Given the description of an element on the screen output the (x, y) to click on. 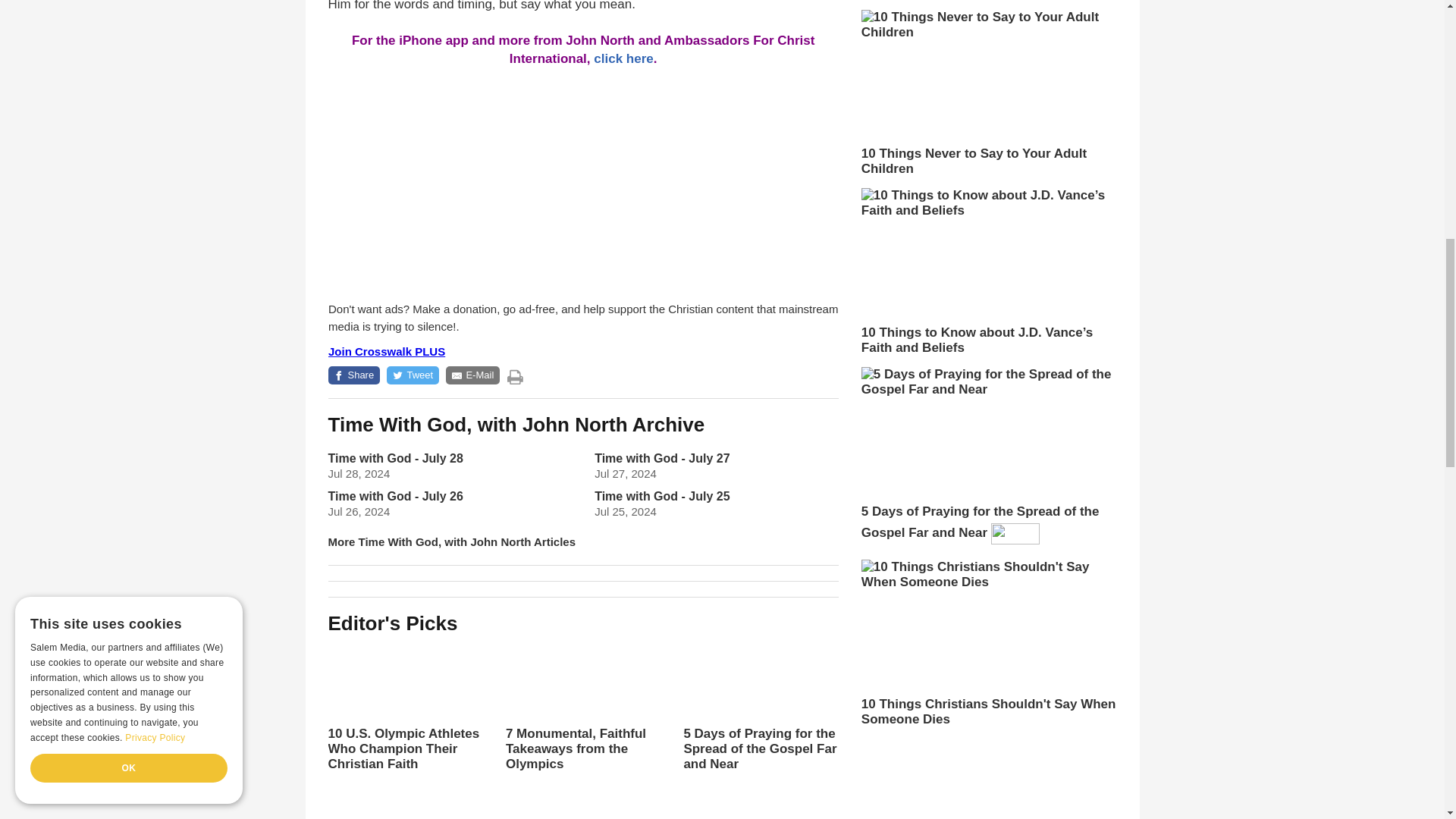
3 Ways Women Can Improve Their Prayer Lives (583, 809)
7 Monumental, Faithful Takeaways from the Olympics (583, 706)
5 Days of Praying for the Spread of the Gospel Far and Near (760, 720)
10 U.S. Olympic Athletes Who Champion Their Christian Faith (404, 706)
